Given the description of an element on the screen output the (x, y) to click on. 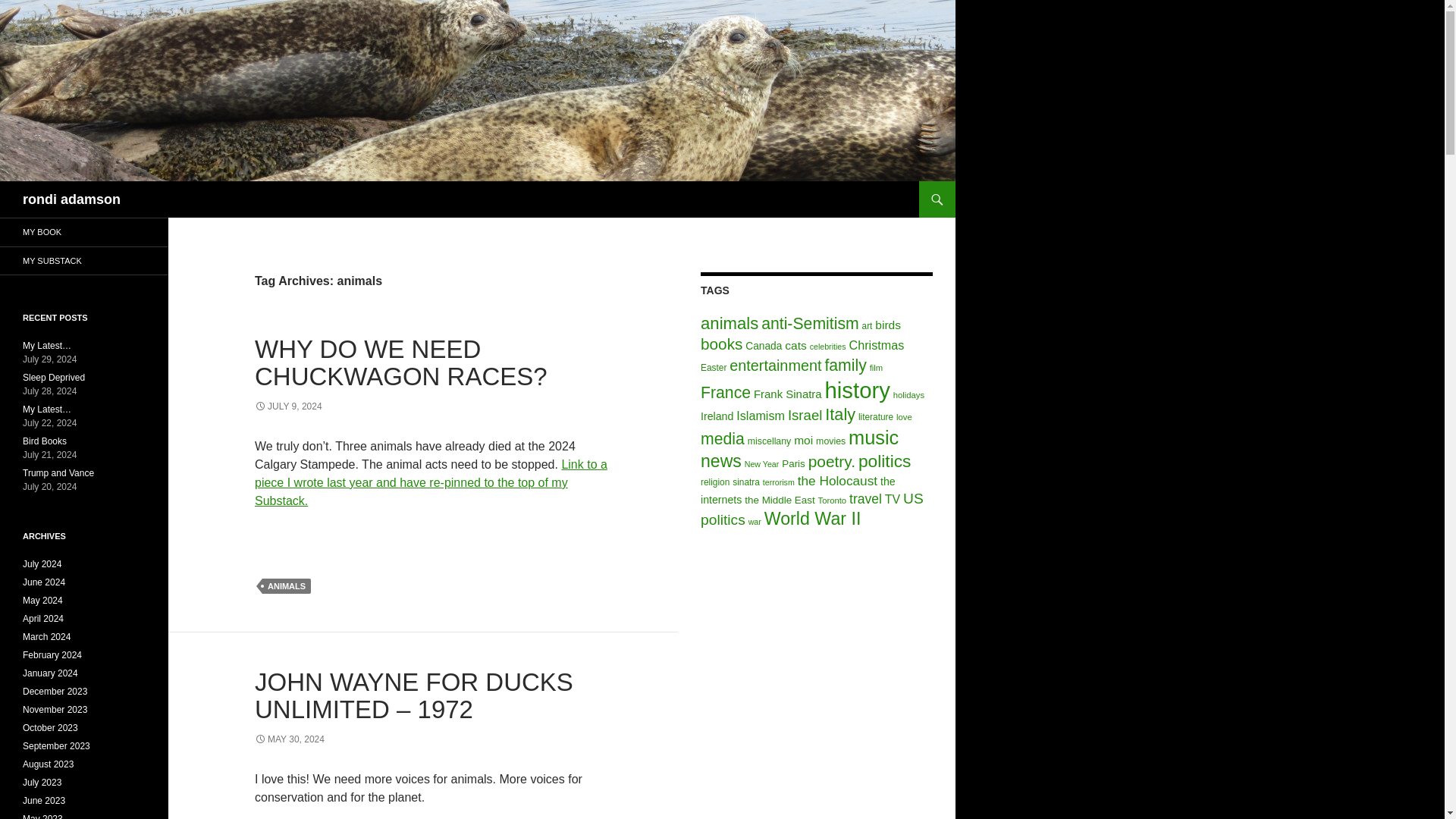
ANIMALS (286, 585)
MAY 30, 2024 (289, 738)
WHY DO WE NEED CHUCKWAGON RACES? (400, 362)
rondi adamson (71, 198)
JULY 9, 2024 (287, 406)
